Given the description of an element on the screen output the (x, y) to click on. 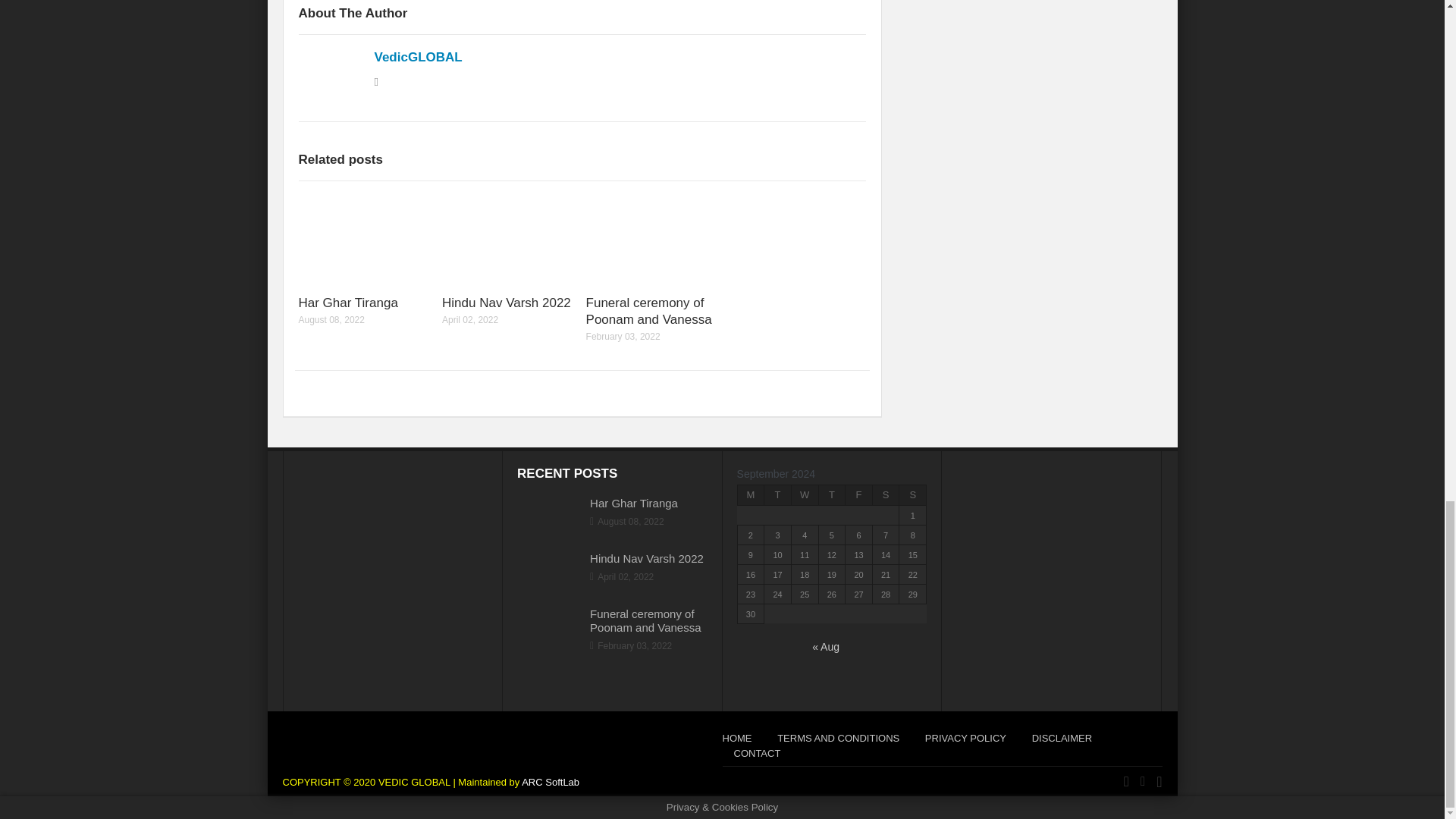
Wednesday (804, 494)
Monday (750, 494)
Sunday (912, 494)
Friday (858, 494)
Thursday (831, 494)
Tuesday (778, 494)
Saturday (885, 494)
